Given the description of an element on the screen output the (x, y) to click on. 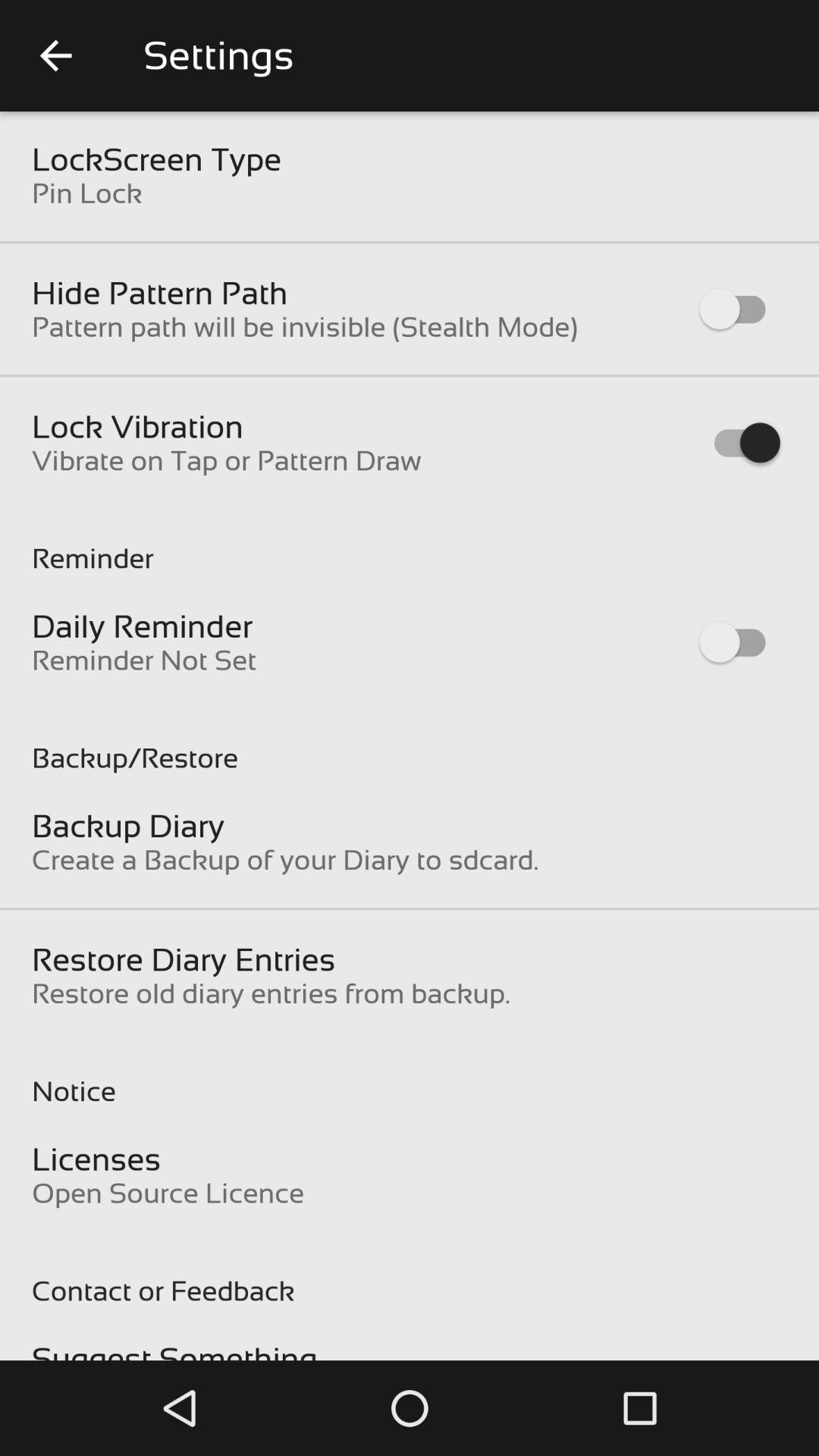
click item below the pattern path will (137, 426)
